Given the description of an element on the screen output the (x, y) to click on. 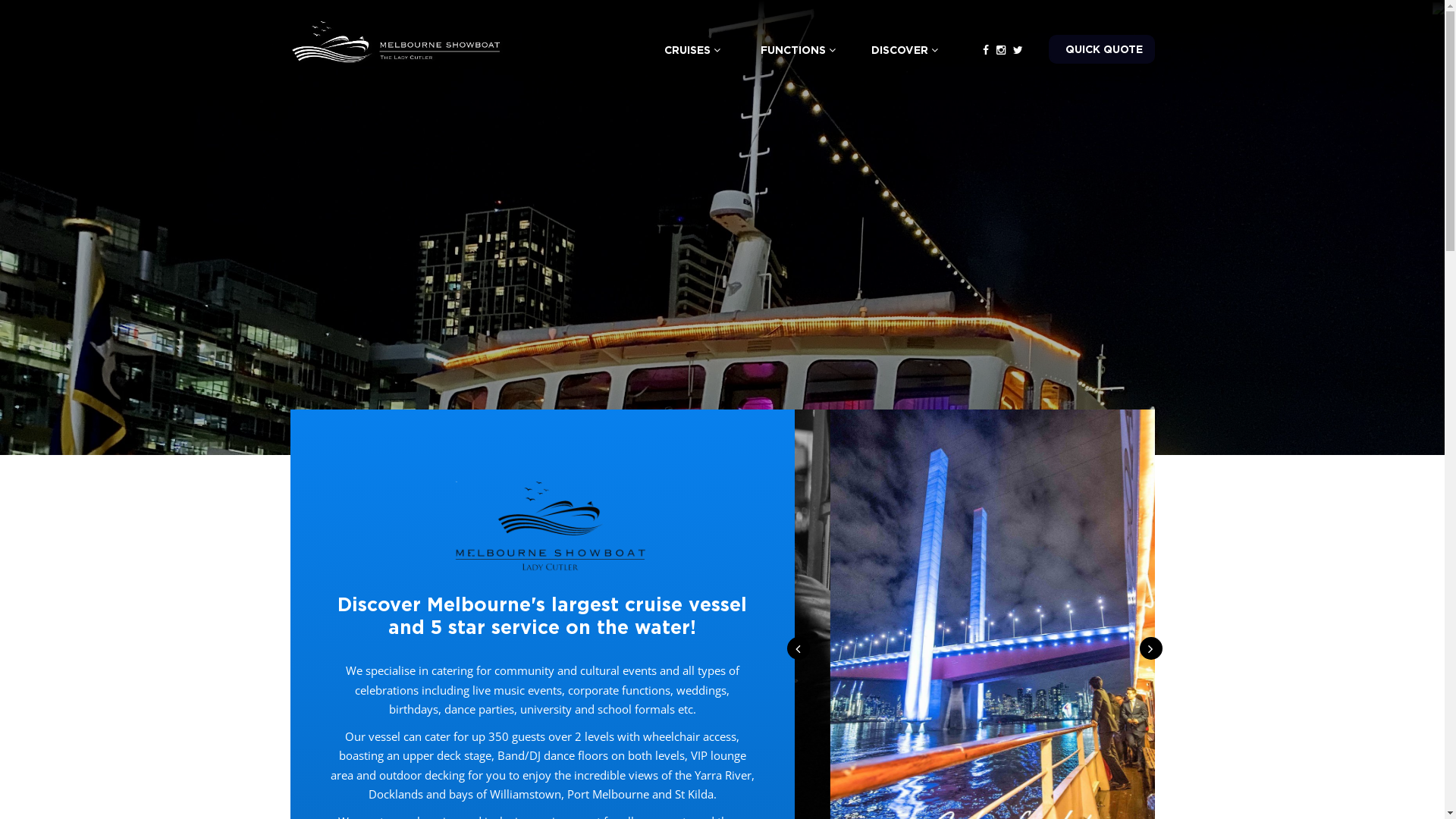
FUNCTIONS Element type: text (797, 50)
The Lady Cutler - Melbourne Showboat Element type: hover (395, 40)
CRUISES Element type: text (691, 50)
Follow us on Twitter Element type: hover (1017, 50)
DISCOVER Element type: text (903, 50)
Like us on Facebook Element type: hover (985, 50)
QUICK QUOTE Element type: text (1101, 48)
Follow us on Instagram Element type: hover (1000, 50)
